Given the description of an element on the screen output the (x, y) to click on. 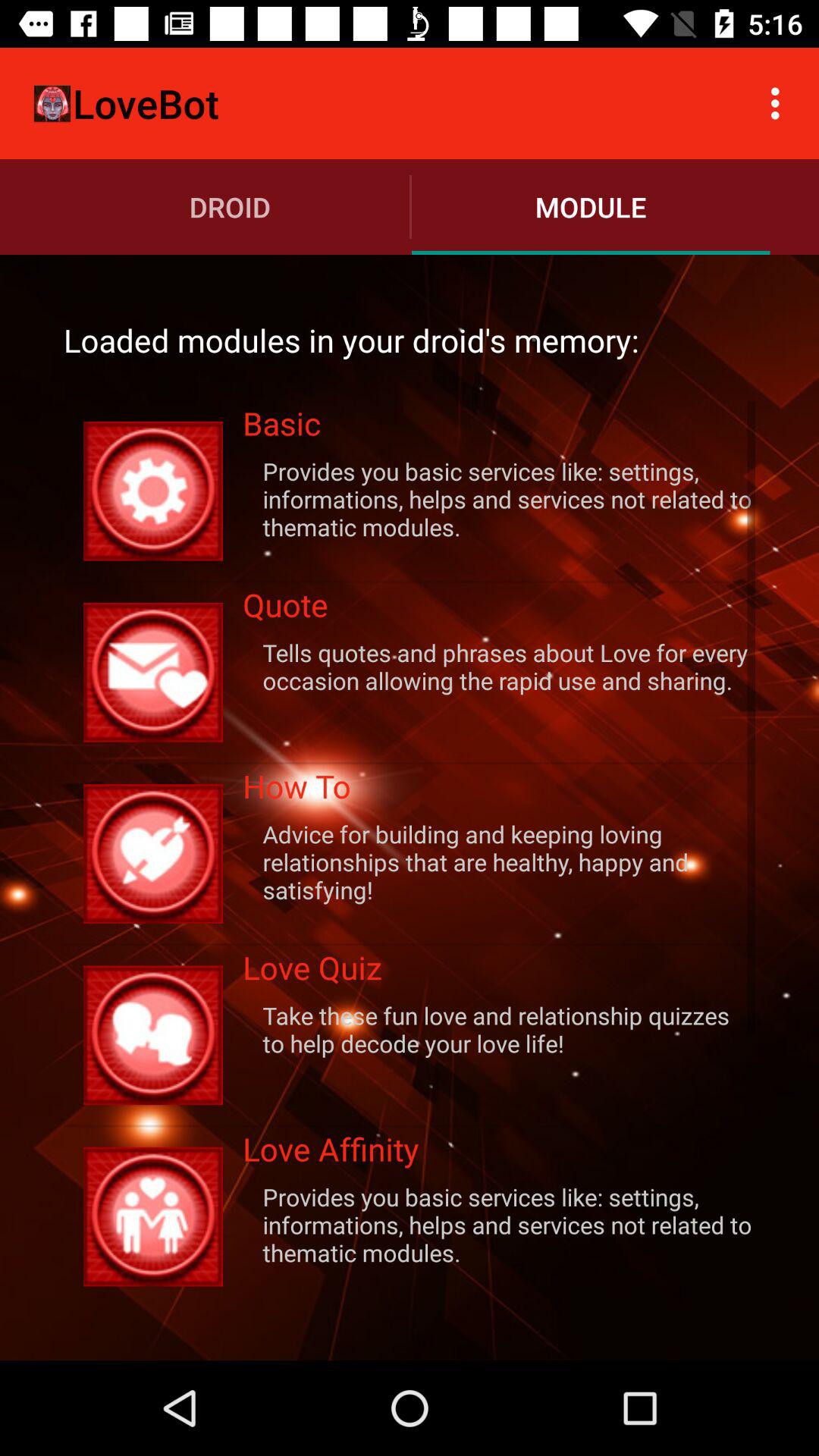
launch love affinity (498, 1153)
